Given the description of an element on the screen output the (x, y) to click on. 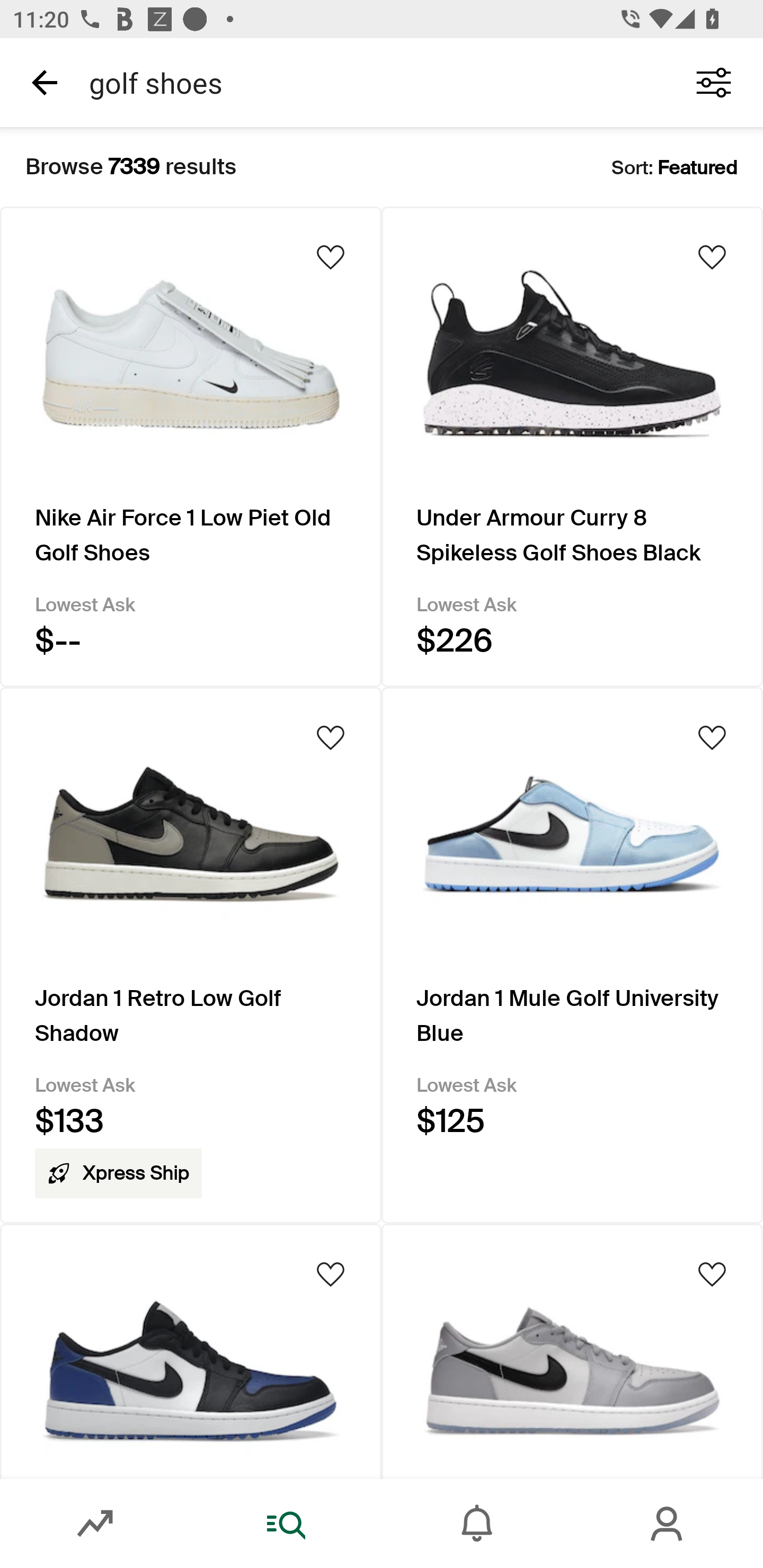
golf shoes (370, 82)
Product Image (190, 1350)
Product Image (572, 1350)
Market (95, 1523)
Inbox (476, 1523)
Account (667, 1523)
